Given the description of an element on the screen output the (x, y) to click on. 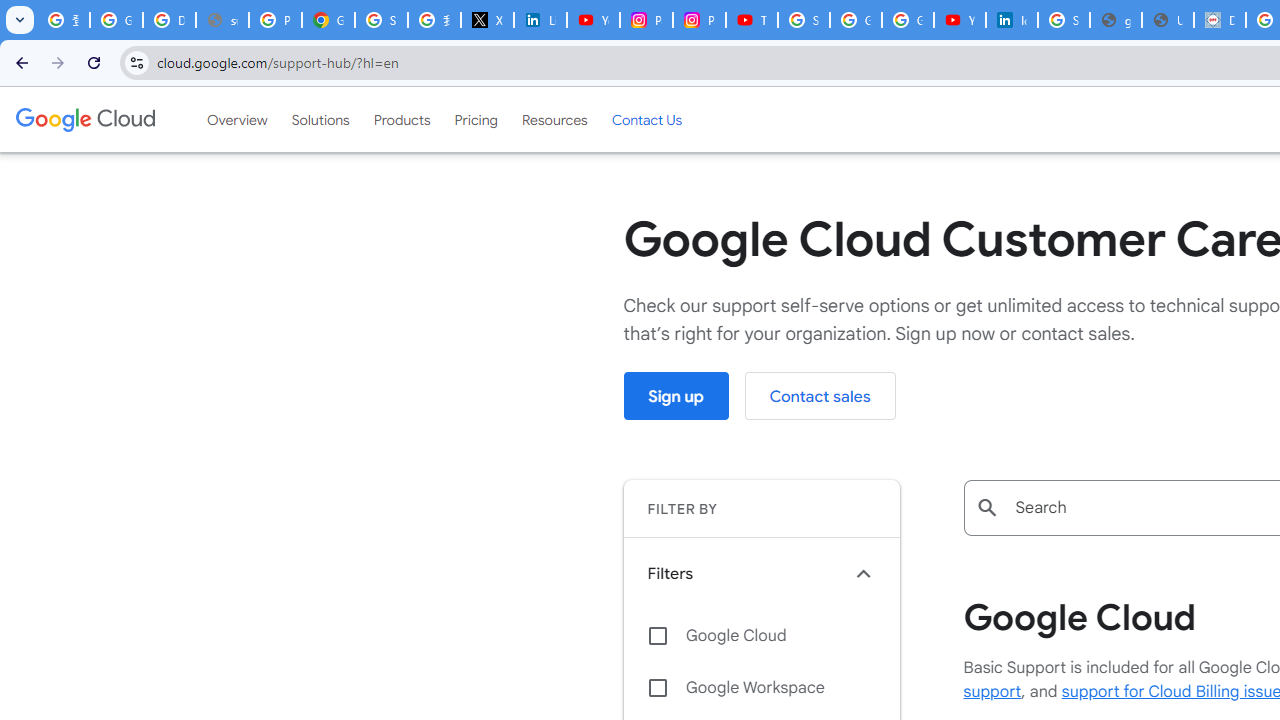
Pricing (476, 119)
Contact Us (646, 119)
Products (401, 119)
YouTube Content Monetization Policies - How YouTube Works (593, 20)
Google Workspace (761, 687)
Privacy Help Center - Policies Help (275, 20)
